Given the description of an element on the screen output the (x, y) to click on. 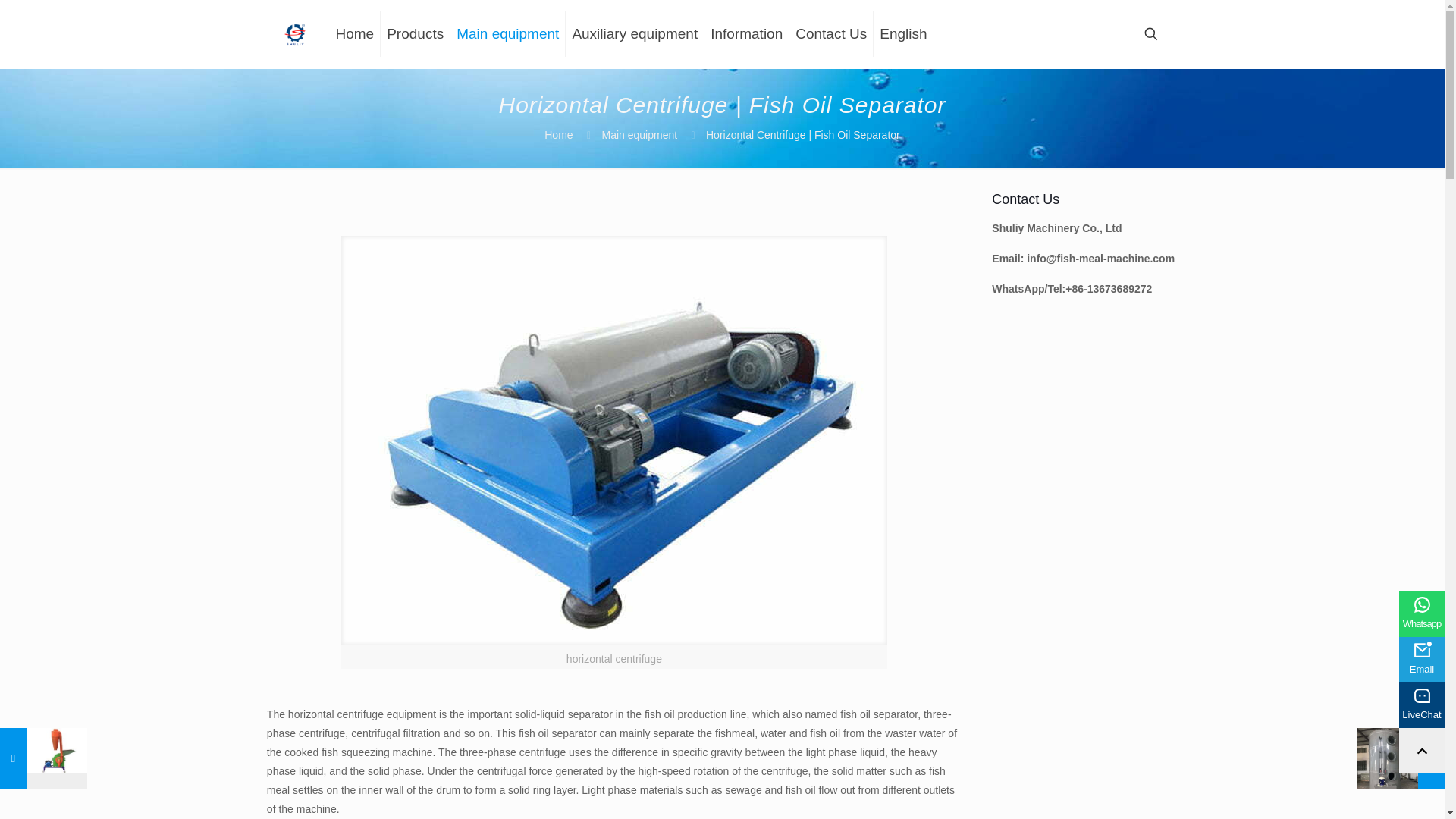
Home (558, 134)
Products (414, 33)
Contact Us (831, 33)
Main equipment (639, 134)
Information (746, 33)
Auxiliary equipment (635, 33)
Main equipment (507, 33)
